Given the description of an element on the screen output the (x, y) to click on. 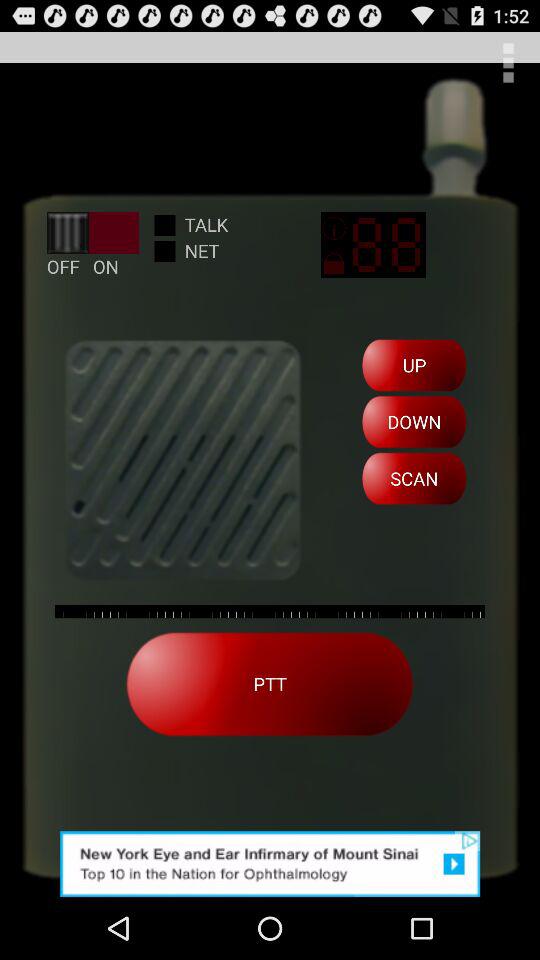
menu page (508, 62)
